Given the description of an element on the screen output the (x, y) to click on. 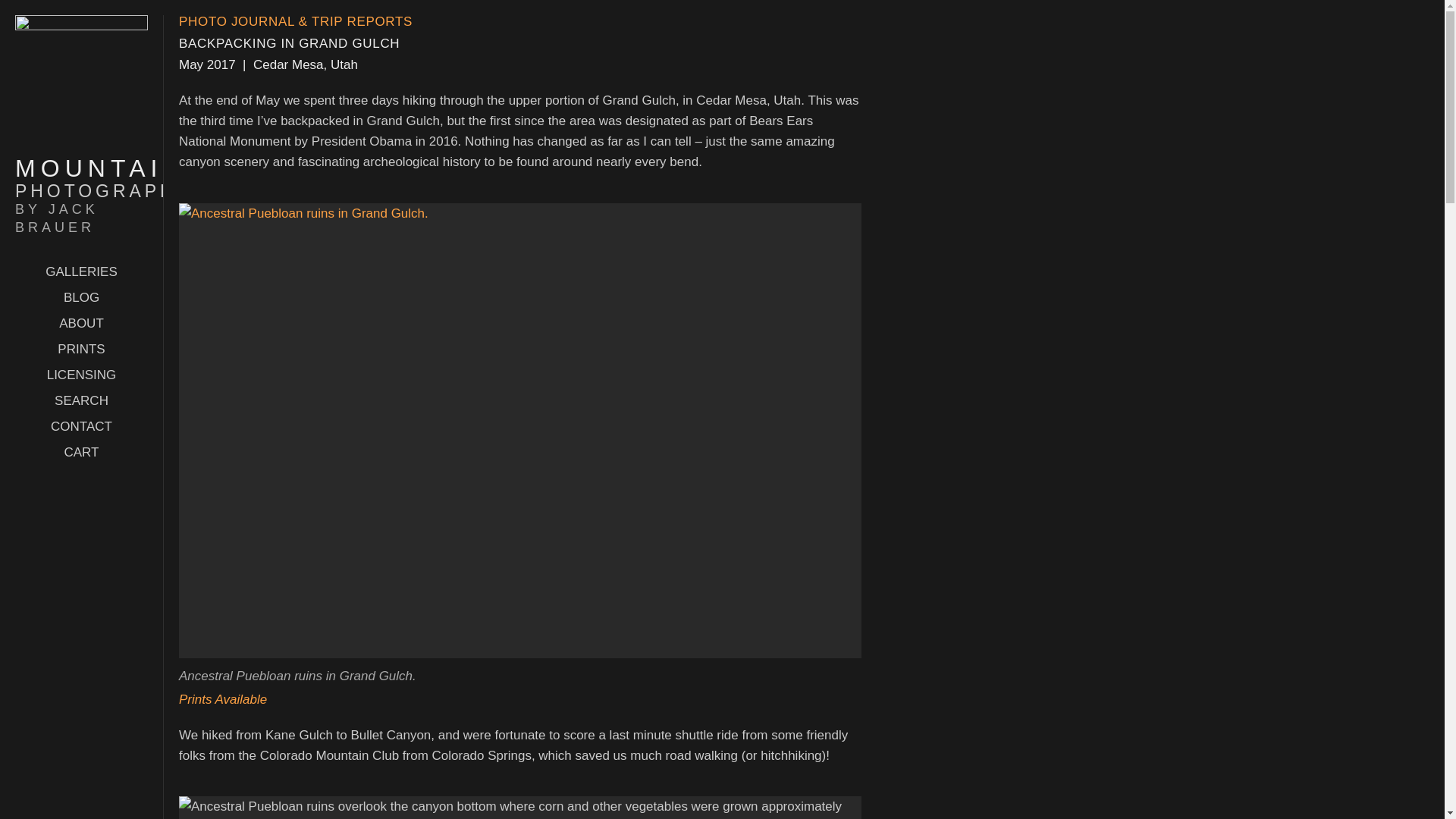
CART (81, 452)
Mountain Photography by Jack Brauer (81, 195)
CONTACT (81, 426)
Prints Available (222, 699)
LICENSING (81, 374)
SEARCH (81, 400)
Ancient Patio (520, 807)
GALLERIES (81, 271)
PRINTS (81, 349)
